Given the description of an element on the screen output the (x, y) to click on. 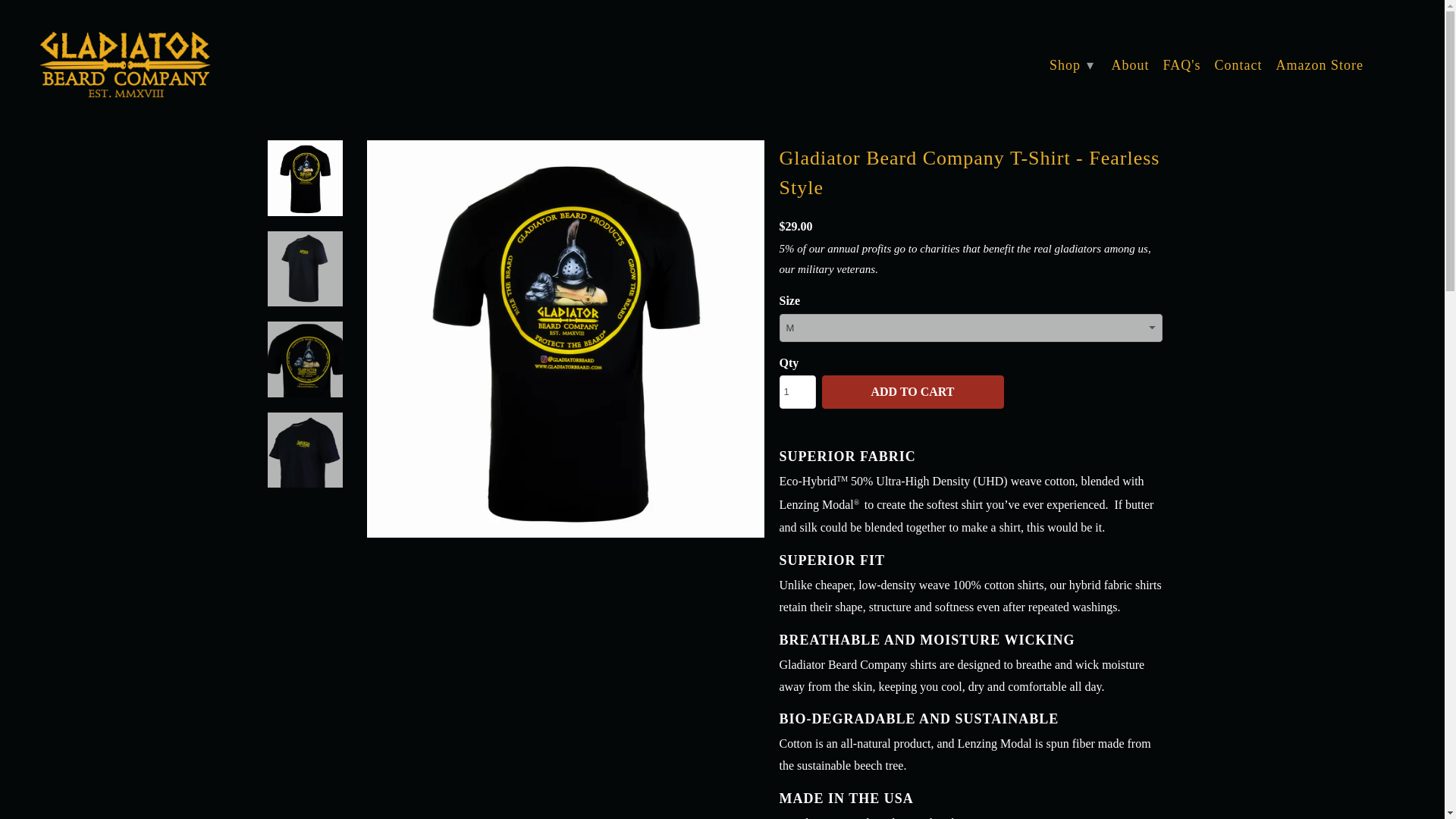
Gladiator Beard Company (124, 66)
1 (796, 391)
ADD TO CART (913, 391)
